Given the description of an element on the screen output the (x, y) to click on. 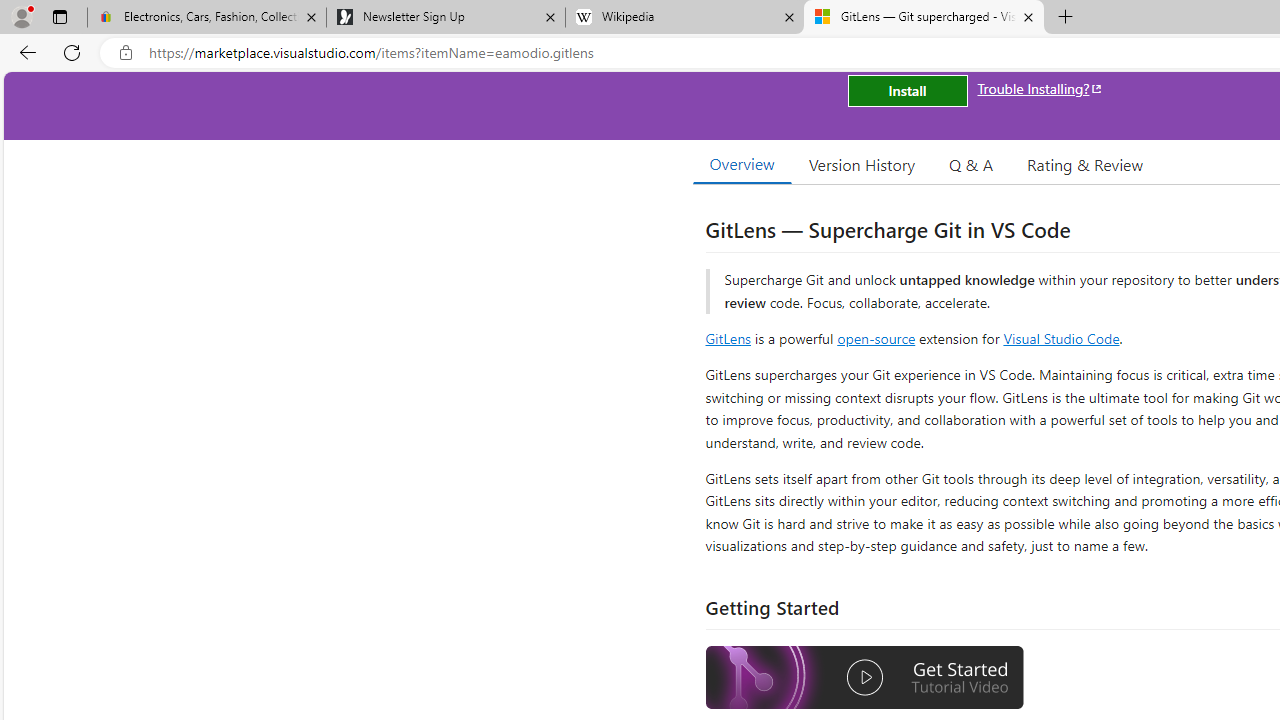
GitLens (728, 337)
Rating & Review (1084, 164)
